Given the description of an element on the screen output the (x, y) to click on. 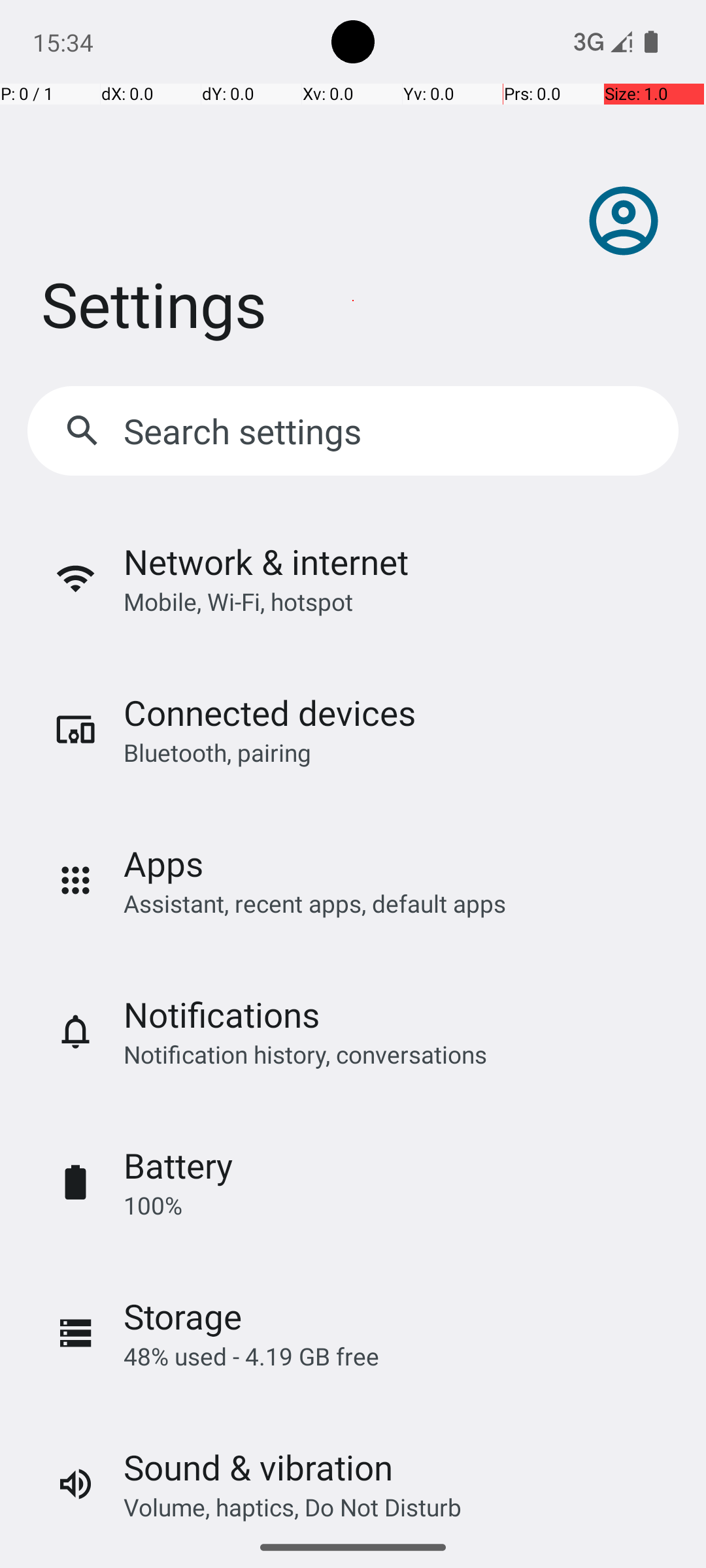
48% used - 4.19 GB free Element type: android.widget.TextView (251, 1355)
